Given the description of an element on the screen output the (x, y) to click on. 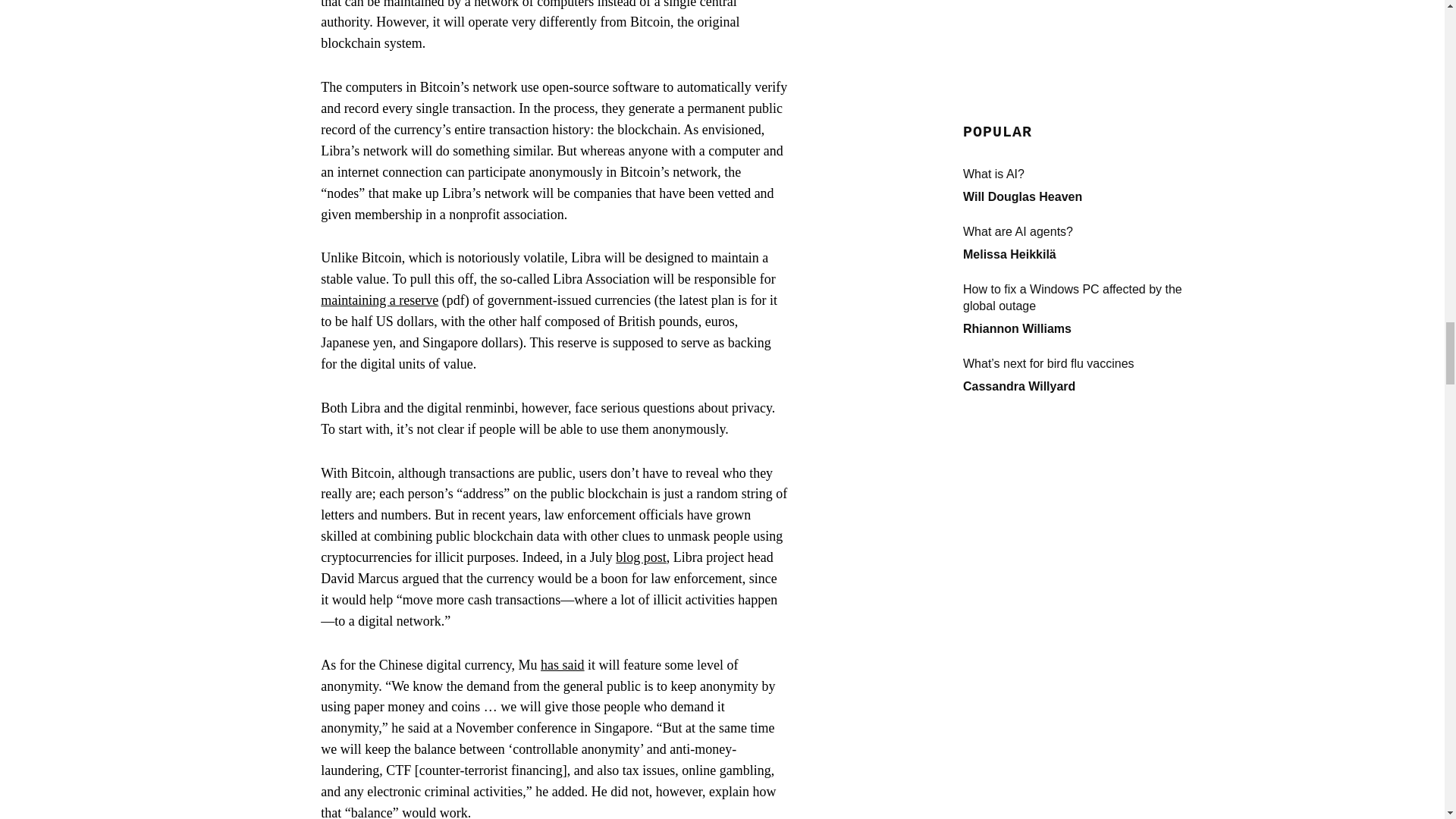
blog post (640, 557)
maintaining a reserve (379, 299)
has said (562, 664)
